Given the description of an element on the screen output the (x, y) to click on. 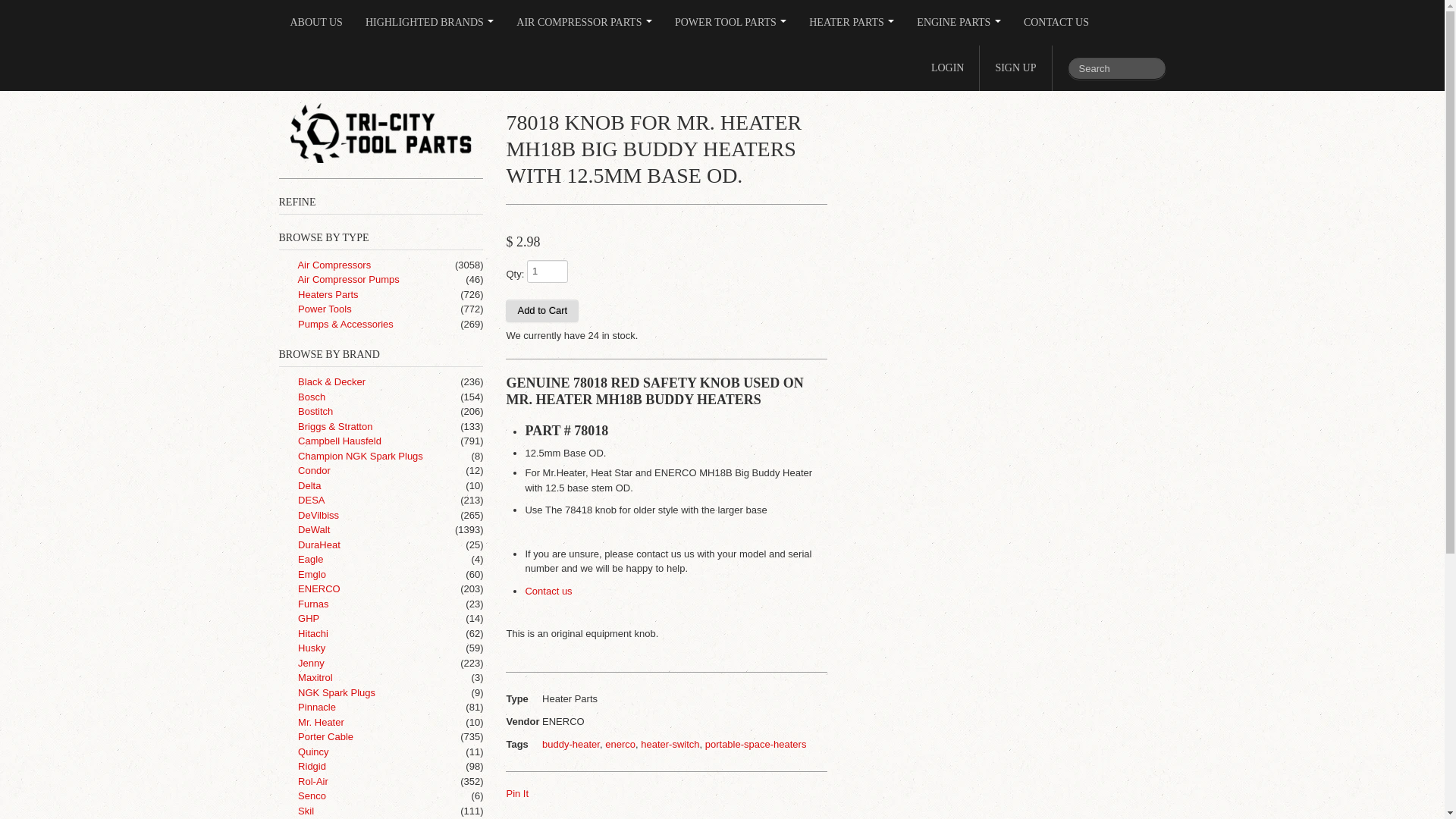
View Highlighted Brands (429, 22)
AIR COMPRESSOR PARTS (584, 22)
1 (547, 271)
ABOUT US (316, 22)
View About Us (316, 22)
View Air Compressor Parts (584, 22)
HIGHLIGHTED BRANDS (429, 22)
POWER TOOL PARTS (730, 22)
